Given the description of an element on the screen output the (x, y) to click on. 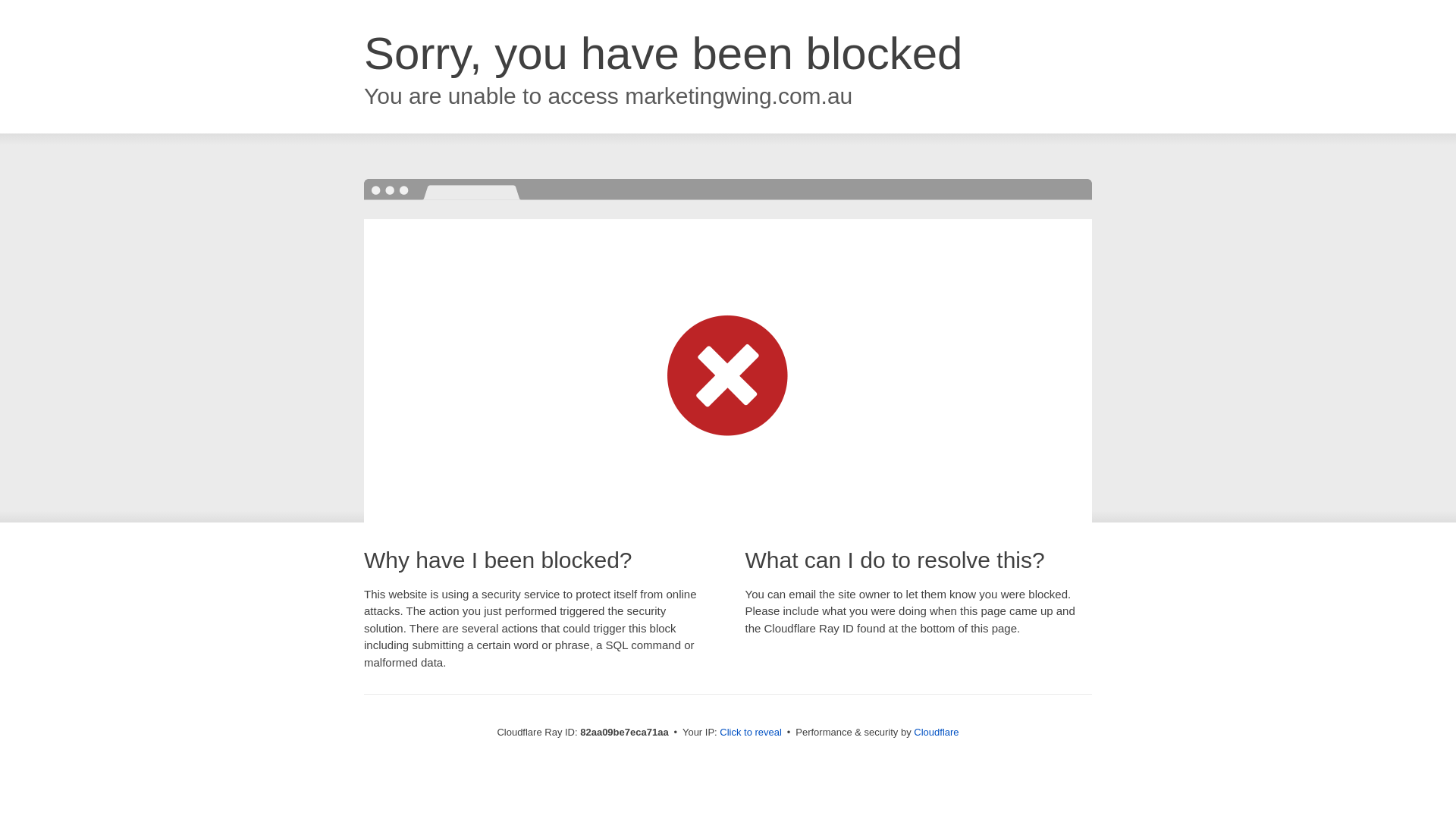
Cloudflare Element type: text (935, 731)
Click to reveal Element type: text (750, 732)
